Given the description of an element on the screen output the (x, y) to click on. 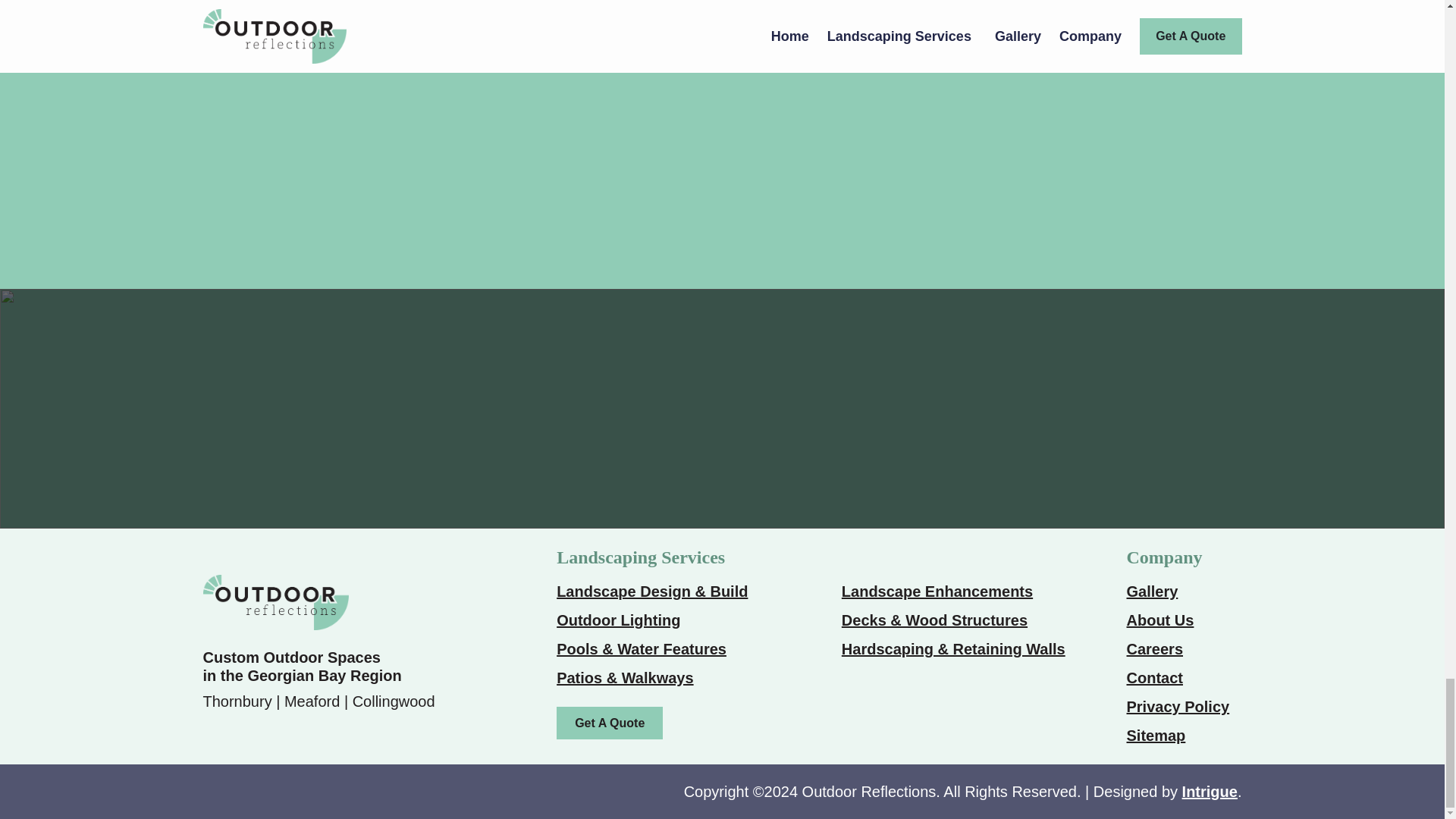
Landscape Enhancements (936, 591)
Gallery (1151, 591)
Get A Quote (609, 722)
Outdoor Lighting (617, 619)
